Given the description of an element on the screen output the (x, y) to click on. 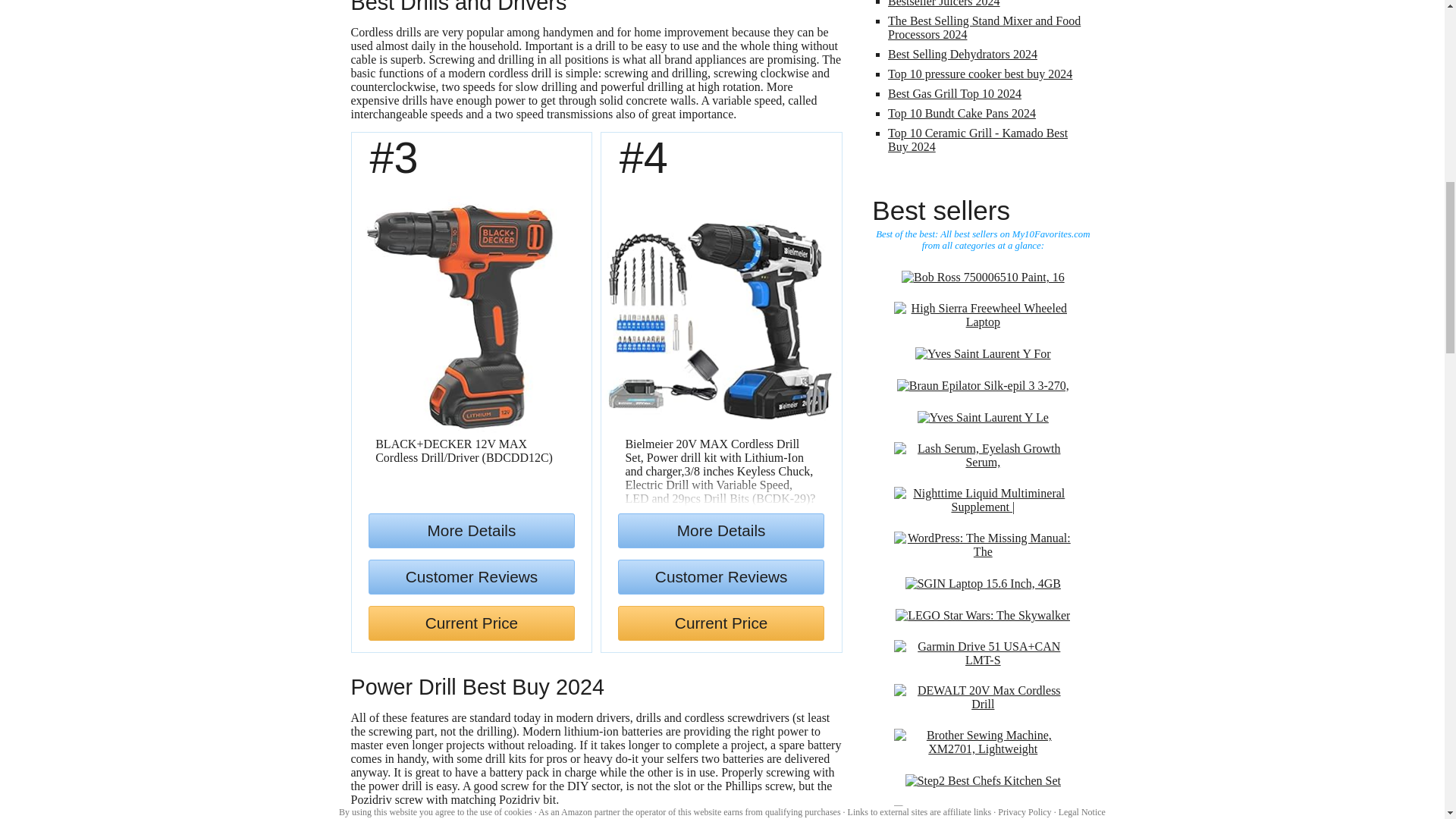
Current Price (720, 623)
Customer Reviews (720, 576)
Customer Reviews (470, 576)
Current Price (470, 623)
Click to see more photos (472, 316)
More Details (720, 530)
Click to see full description (464, 450)
More Details (470, 530)
